Given the description of an element on the screen output the (x, y) to click on. 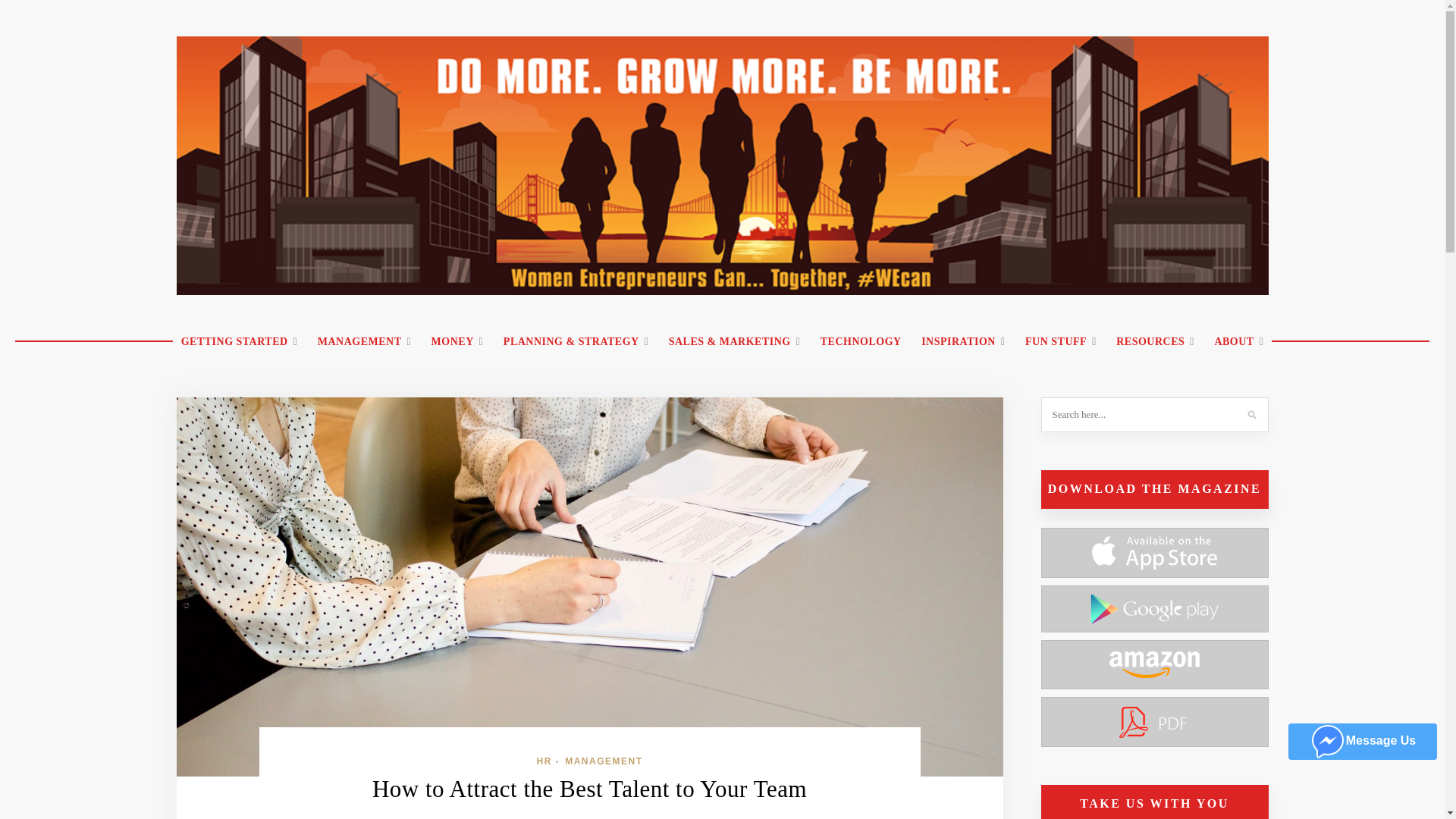
TECHNOLOGY (861, 341)
MANAGEMENT (363, 341)
INSPIRATION (962, 341)
MONEY (456, 341)
GETTING STARTED (239, 341)
FUN STUFF (1060, 341)
